Given the description of an element on the screen output the (x, y) to click on. 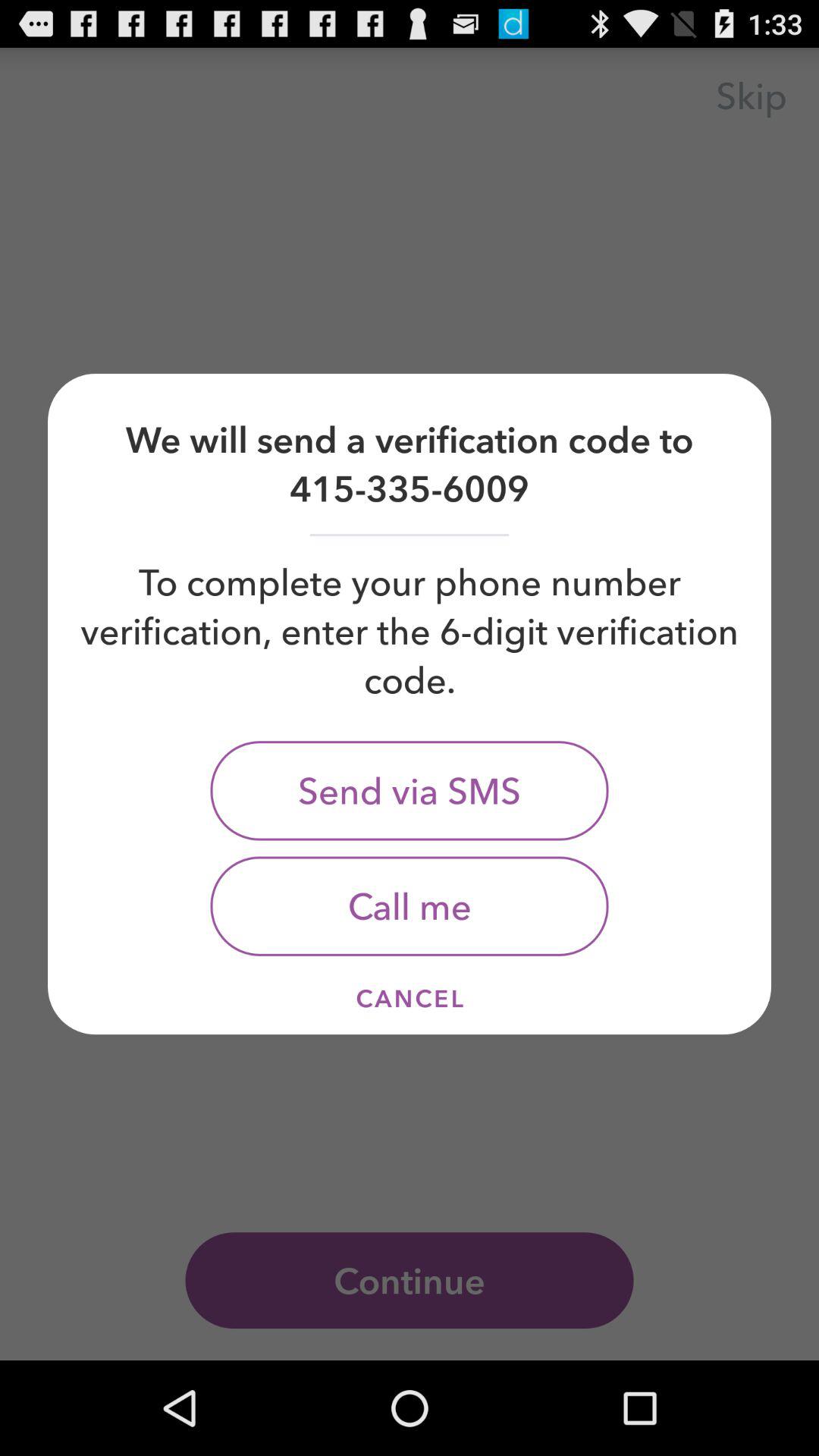
select icon below to complete your item (409, 790)
